Given the description of an element on the screen output the (x, y) to click on. 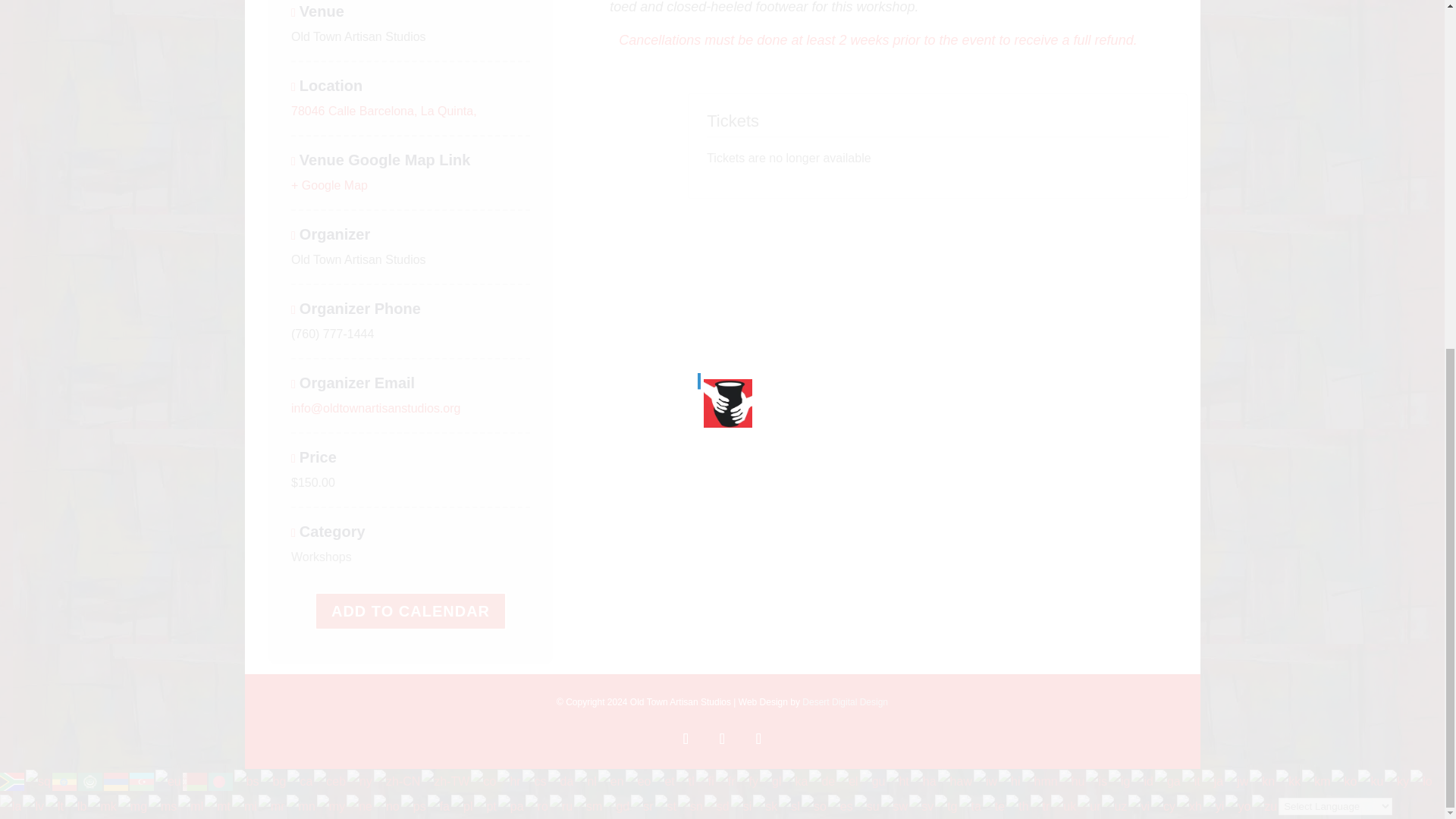
Follow on Instagram (721, 738)
Follow on Facebook (684, 738)
Albanian (39, 780)
Afrikaans (13, 780)
Click to view a Google Map (329, 185)
Follow on Youtube (757, 738)
Amharic (65, 780)
